Given the description of an element on the screen output the (x, y) to click on. 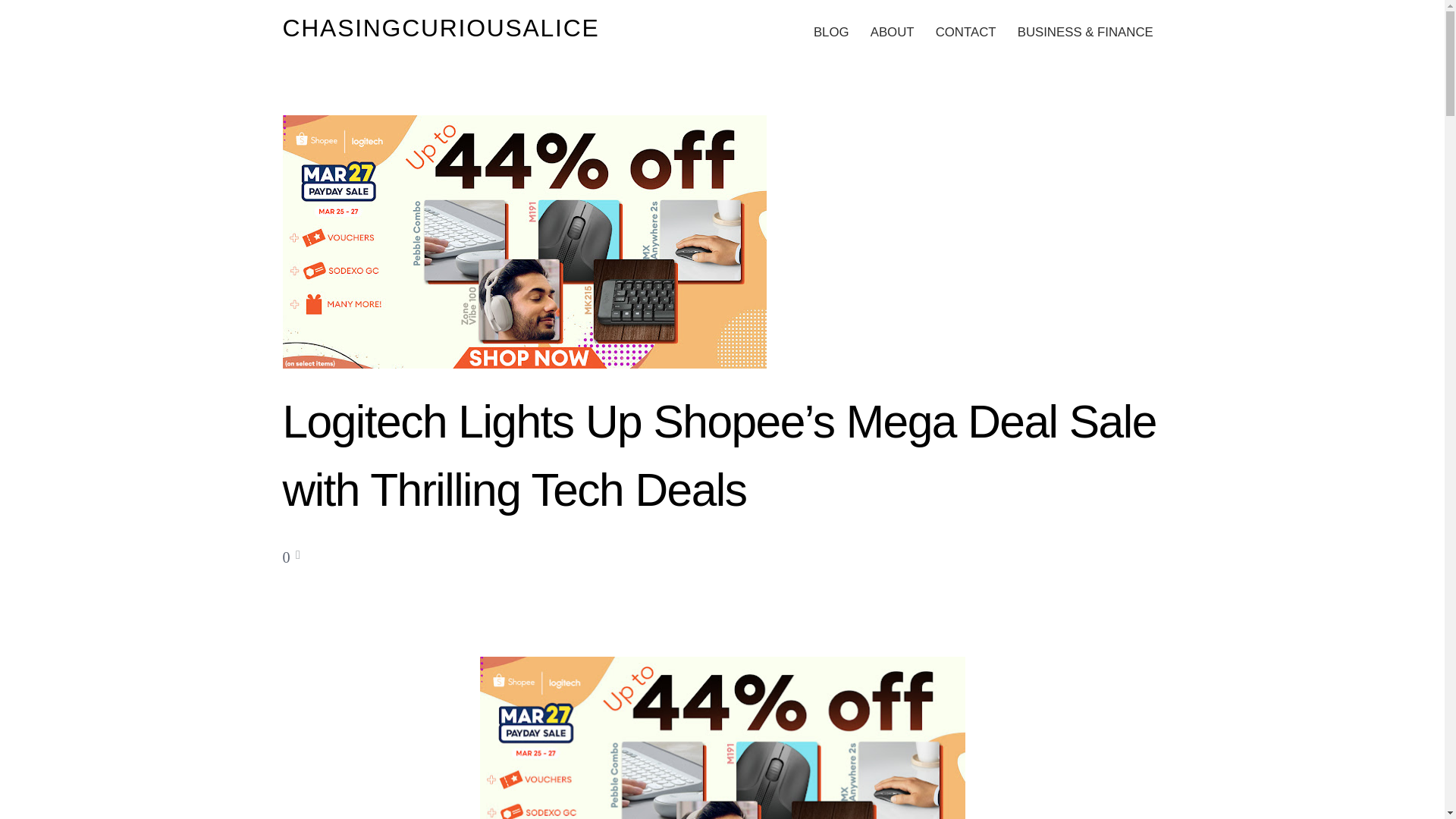
CHASINGCURIOUSALICE (440, 27)
CONTACT (965, 32)
BLOG (831, 32)
ABOUT (892, 32)
Chasingcuriousalice (440, 27)
